Given the description of an element on the screen output the (x, y) to click on. 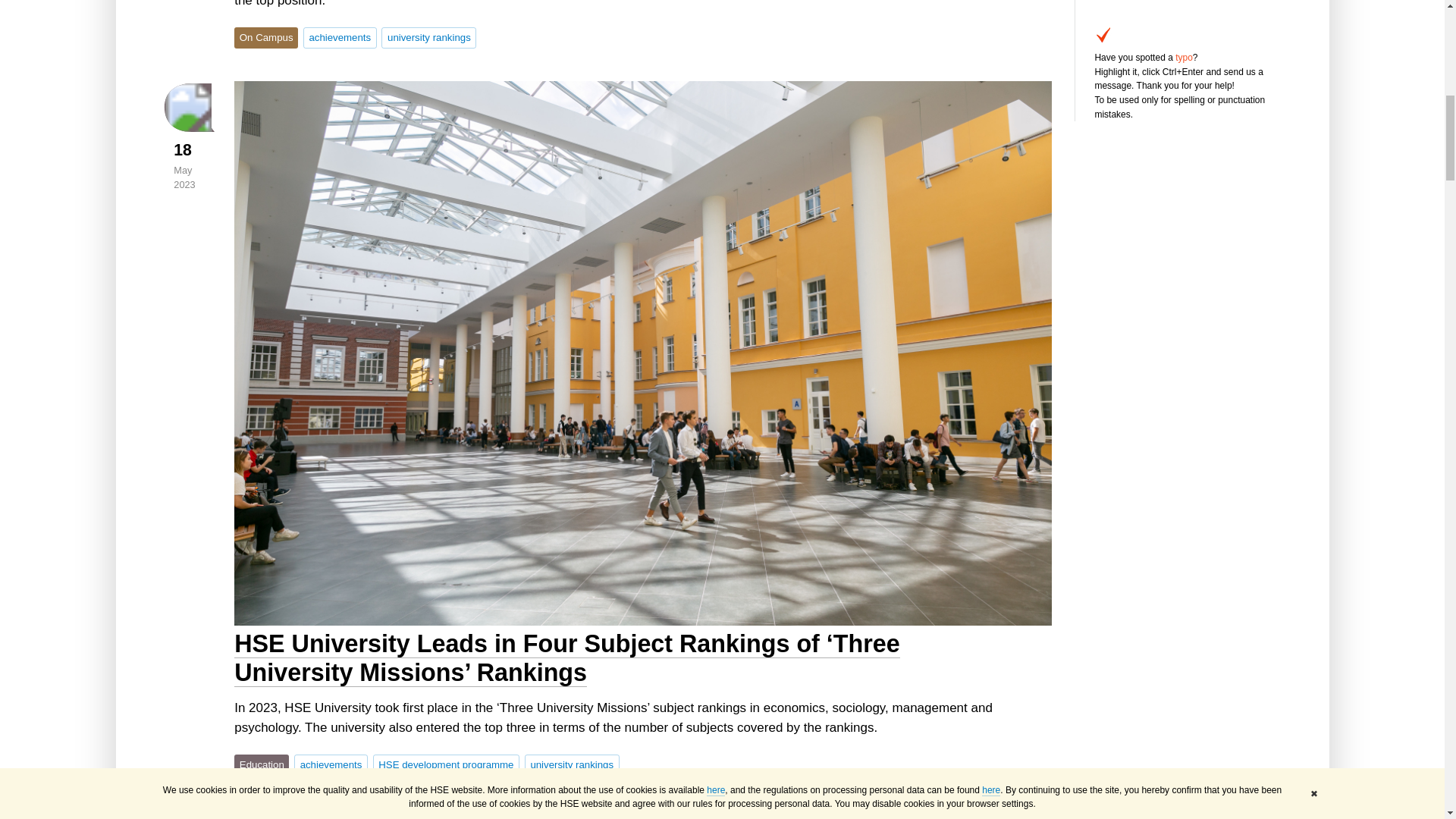
Education (261, 764)
achievements (339, 37)
achievements (339, 37)
university rankings (428, 37)
HSE development programme (445, 764)
HSE development programme (445, 764)
achievements (331, 764)
achievements (331, 764)
 university rankings (572, 764)
